Given the description of an element on the screen output the (x, y) to click on. 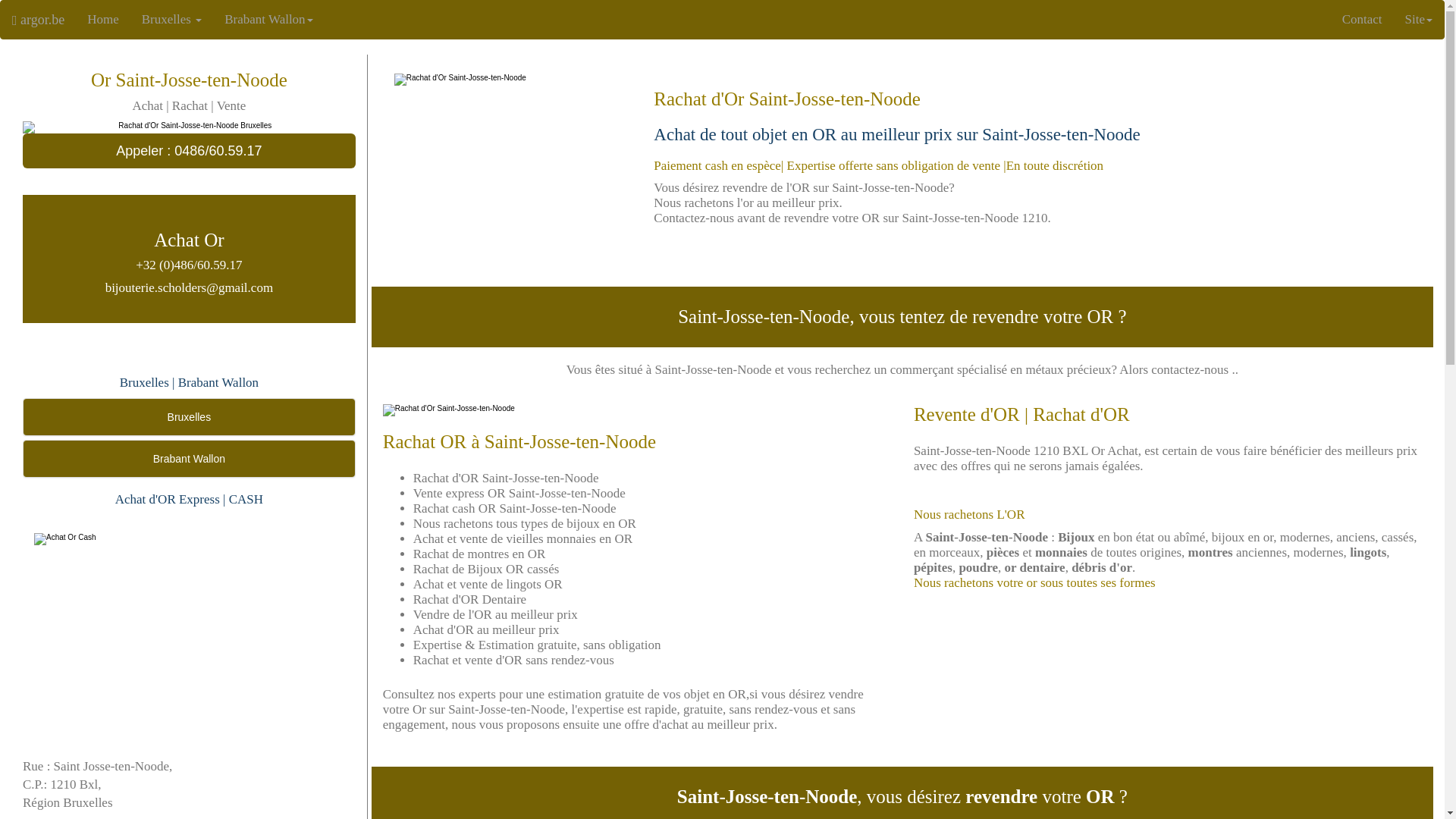
Bruxelles Element type: text (171, 19)
Rachat d'Or Saint-Josse-ten-Noode Element type: hover (636, 410)
Home
(current) Element type: text (102, 19)
Site Element type: text (1418, 19)
argor.be Element type: text (37, 19)
Brabant Wallon Element type: text (189, 458)
Rachat d'Or Saint-Josse-ten-Noode BXL Element type: hover (188, 127)
Achat Or Cash Element type: hover (189, 539)
Rachat d'Or Saint-Josse-ten-Noode Element type: hover (512, 79)
Contact Element type: text (1361, 19)
Brabant Wallon Element type: text (268, 19)
Bruxelles Element type: text (189, 416)
Appeler : 0486/60.59.17 Element type: text (188, 150)
